Given the description of an element on the screen output the (x, y) to click on. 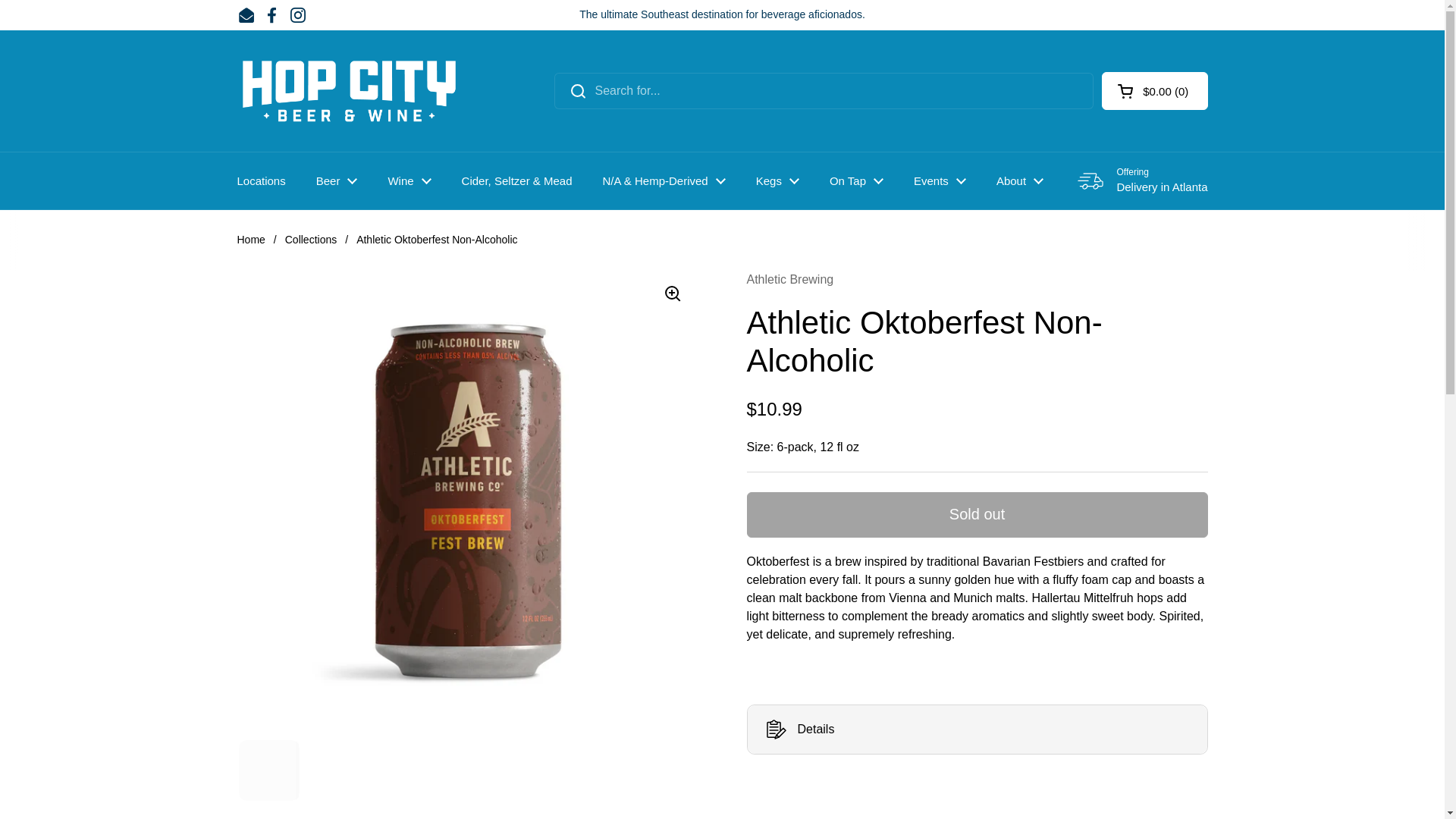
Open cart (1154, 90)
Email (244, 14)
Instagram (296, 14)
On Tap (855, 180)
About (1019, 180)
Kegs (777, 180)
Events (939, 180)
Beer (336, 180)
Facebook (271, 14)
